Given the description of an element on the screen output the (x, y) to click on. 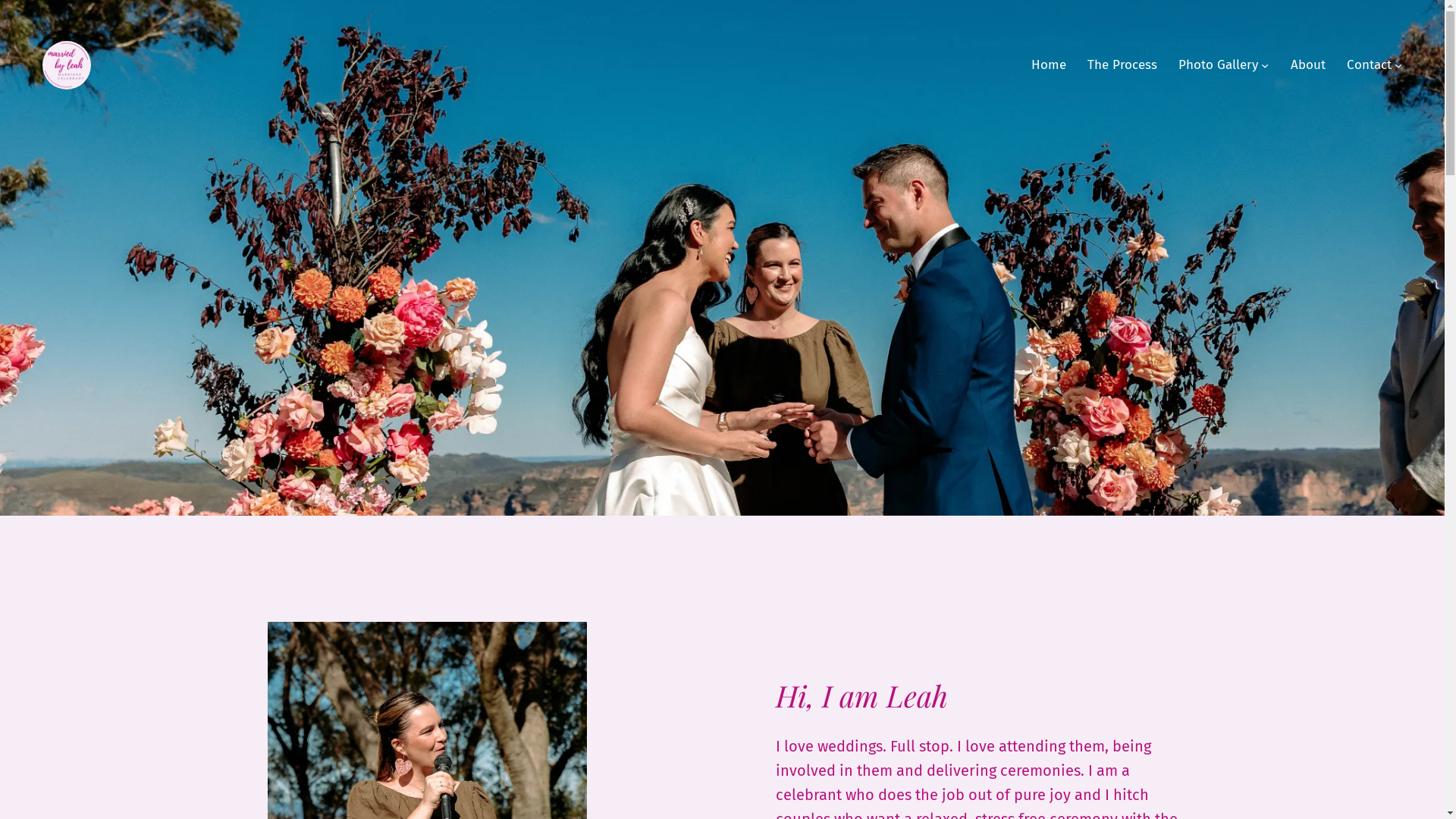
Home Element type: text (1048, 64)
About Element type: text (1307, 64)
Photo Gallery Element type: text (1218, 64)
The Process Element type: text (1122, 64)
Contact Element type: text (1368, 64)
